Given the description of an element on the screen output the (x, y) to click on. 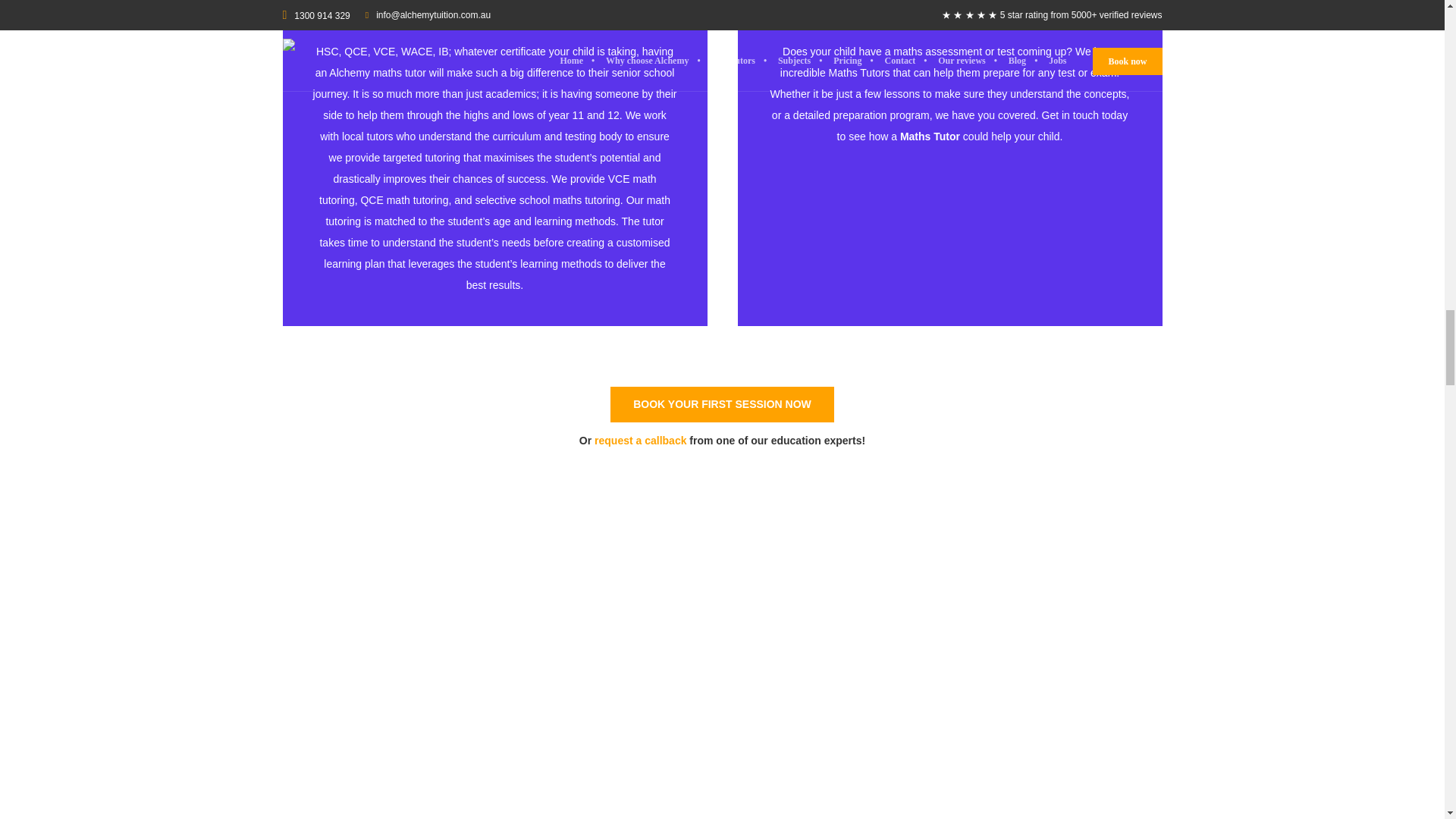
Get started (722, 404)
